Given the description of an element on the screen output the (x, y) to click on. 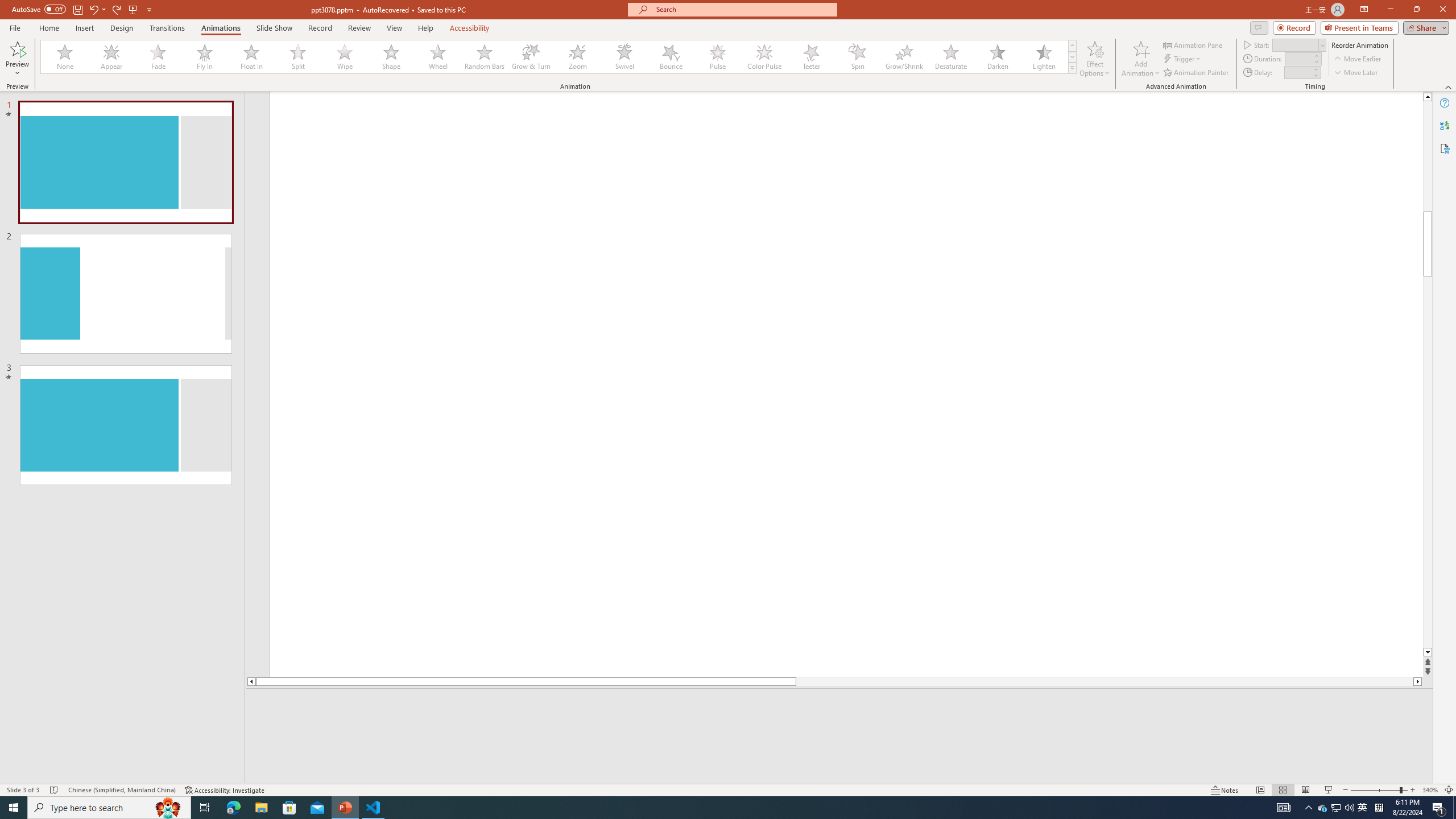
None (65, 56)
Zoom 340% (1430, 790)
Effect Options (1094, 58)
